Given the description of an element on the screen output the (x, y) to click on. 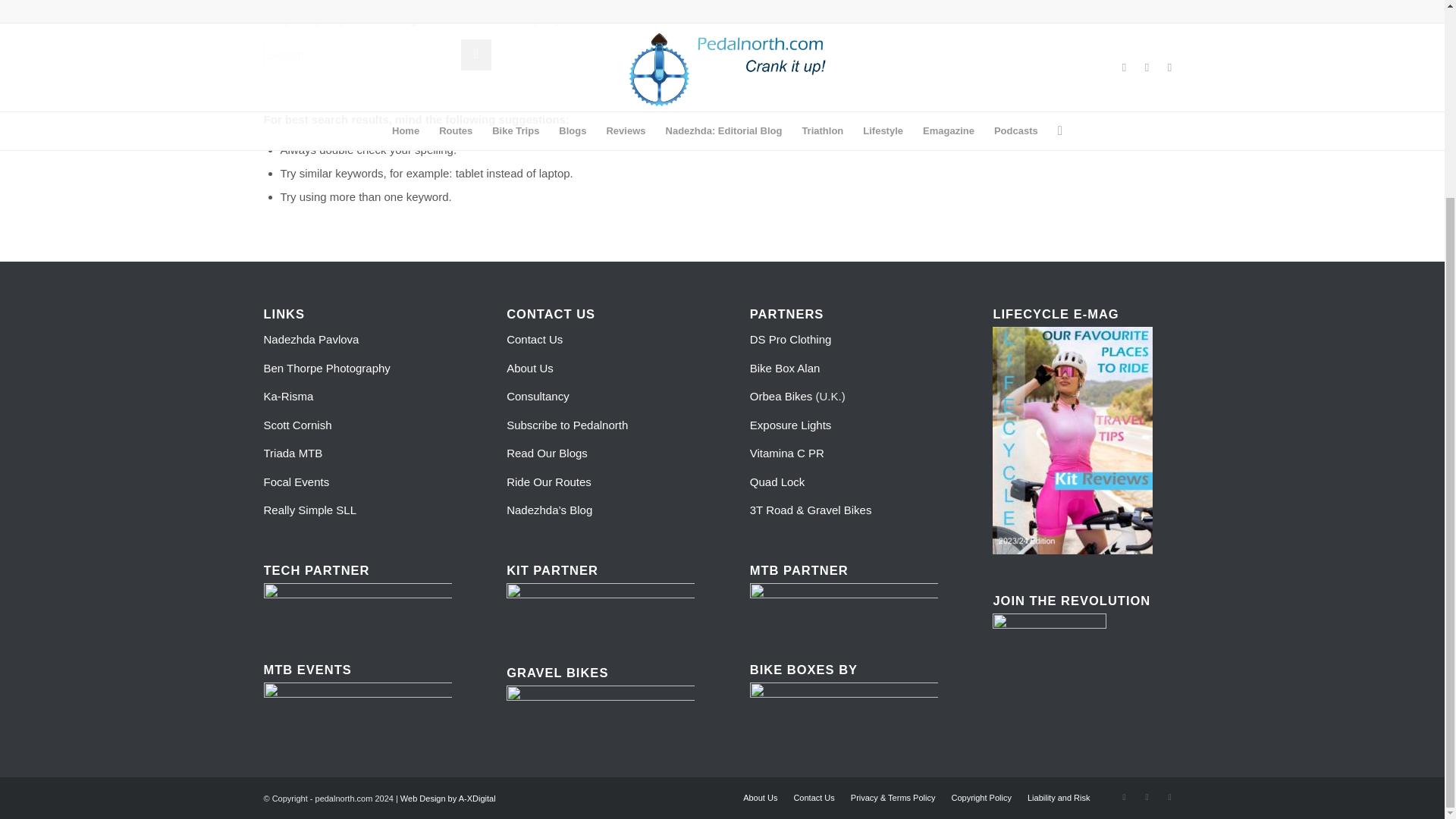
Click to start search (476, 54)
Join the Revolution (1049, 670)
Instagram (1169, 796)
X (1146, 796)
Presca Sportswear (600, 607)
Facebook (1124, 796)
BIKE LIGHTS PARTNER (357, 606)
